Given the description of an element on the screen output the (x, y) to click on. 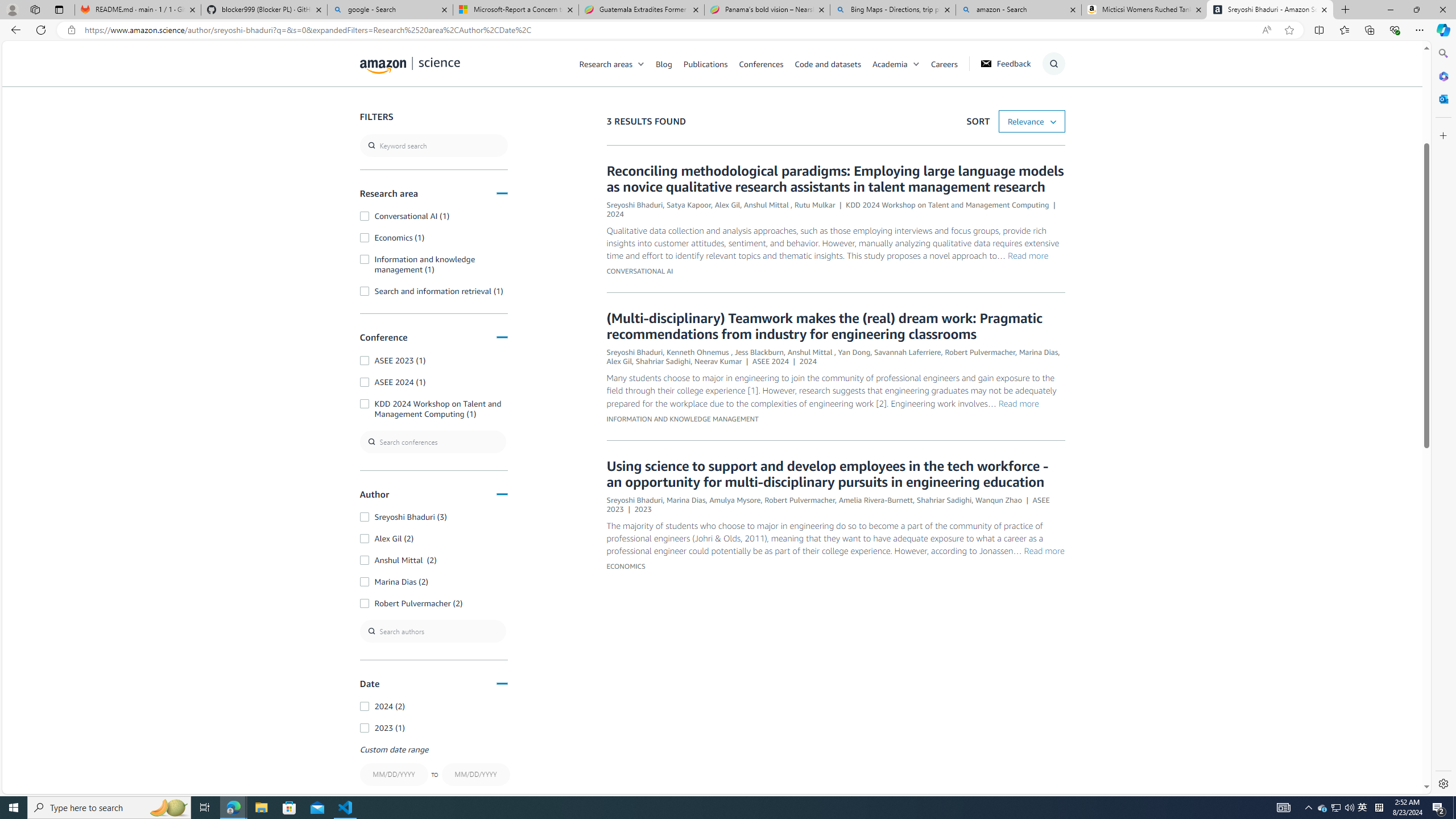
Search conferences (432, 440)
Alex Gil (618, 361)
Open Sub Navigation (916, 63)
Publications (705, 63)
Yan Dong (853, 352)
Amelia Rivera-Burnett (875, 499)
CONVERSATIONAL AI (638, 271)
